Given the description of an element on the screen output the (x, y) to click on. 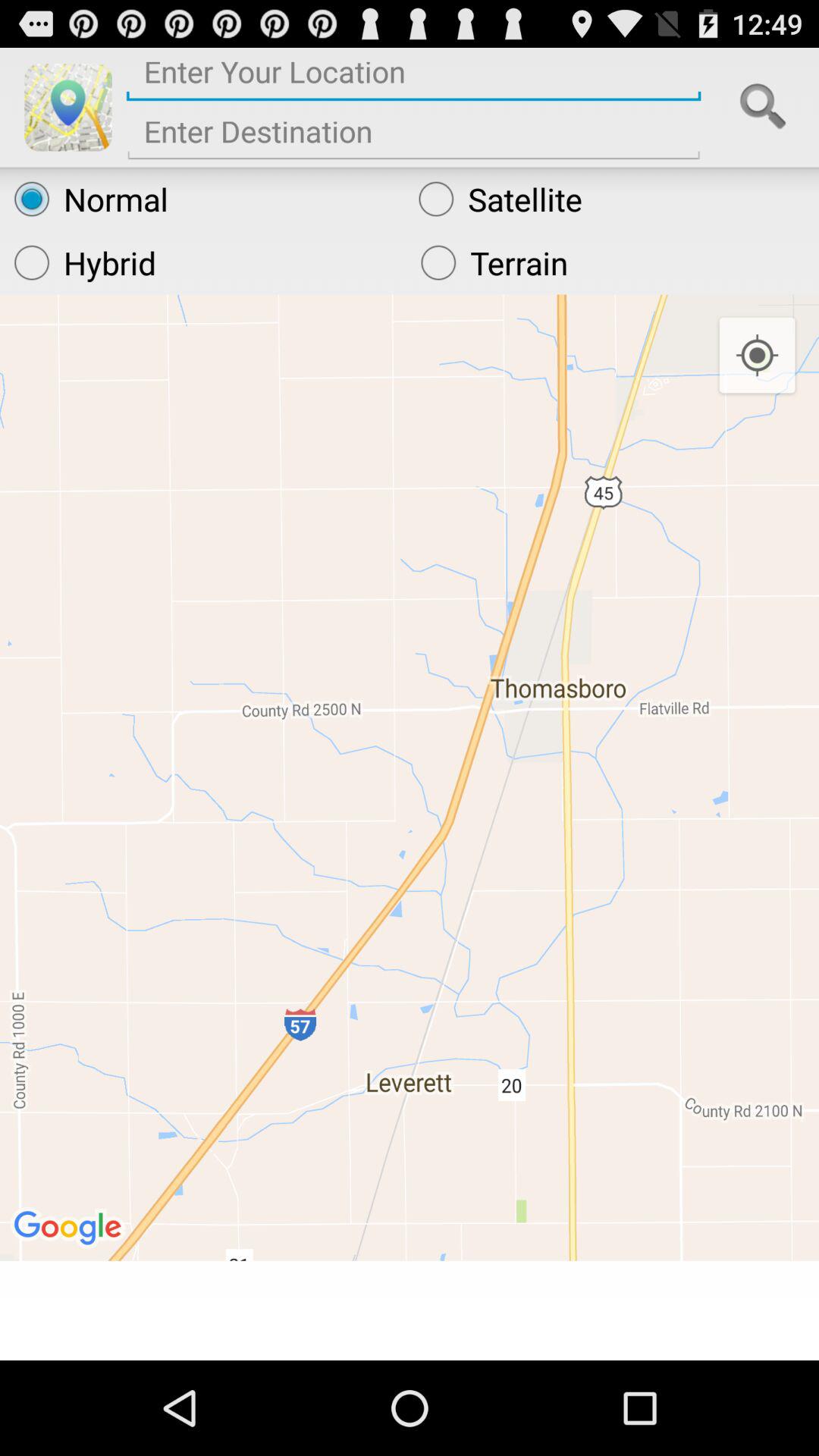
select radio button below the normal (203, 262)
